Given the description of an element on the screen output the (x, y) to click on. 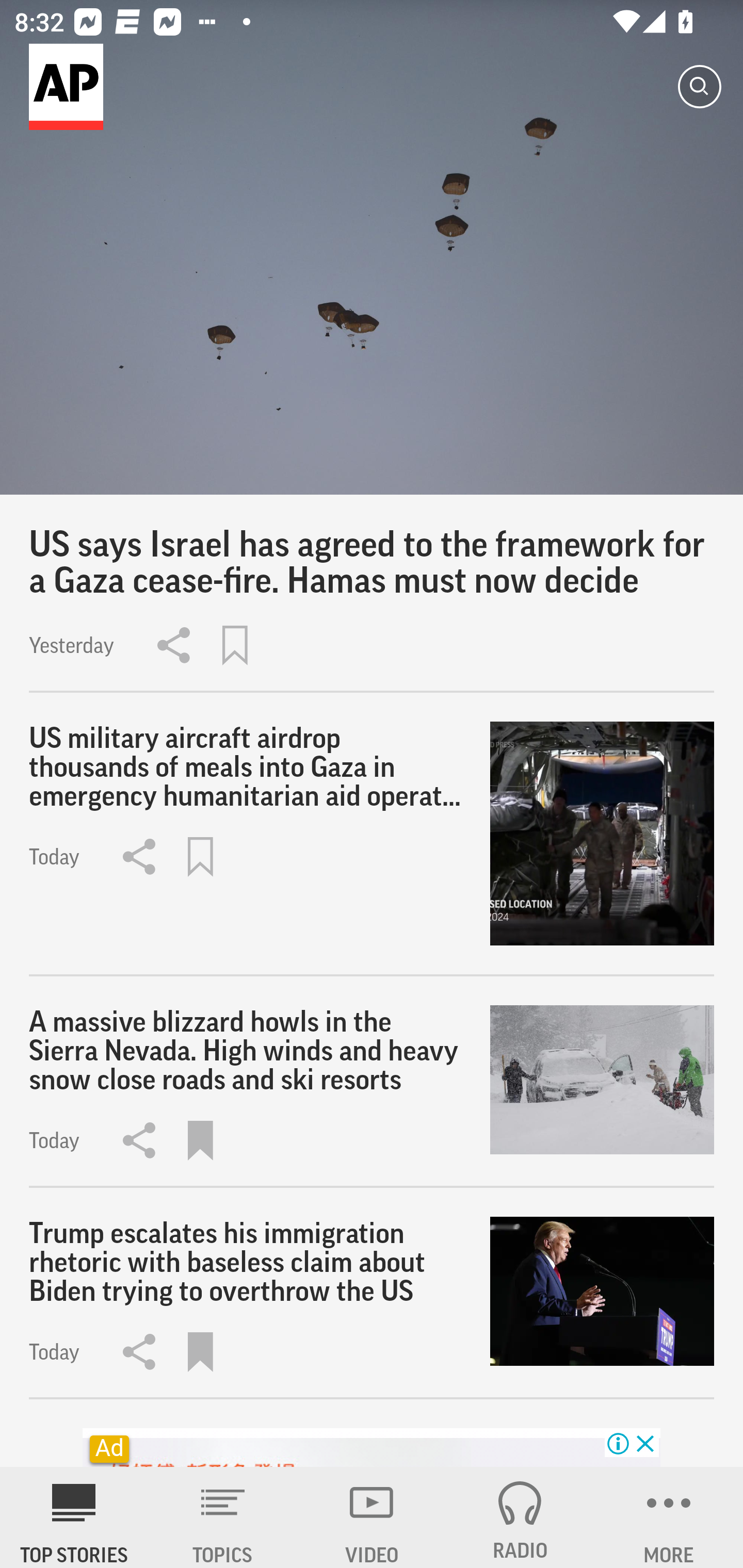
AP News TOP STORIES (74, 1517)
TOPICS (222, 1517)
VIDEO (371, 1517)
RADIO (519, 1517)
MORE (668, 1517)
